Given the description of an element on the screen output the (x, y) to click on. 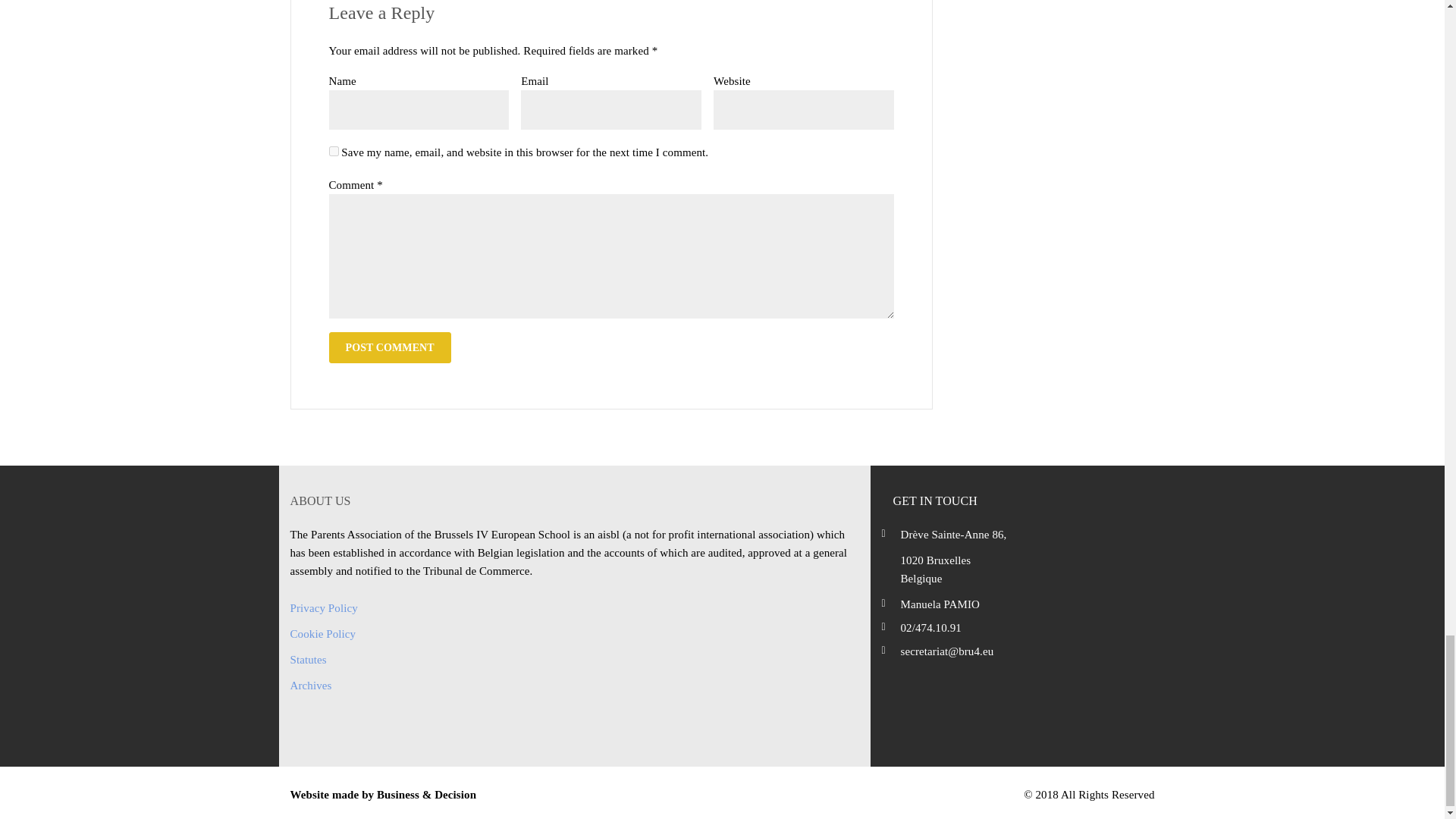
yes (334, 151)
Post Comment (390, 347)
